Given the description of an element on the screen output the (x, y) to click on. 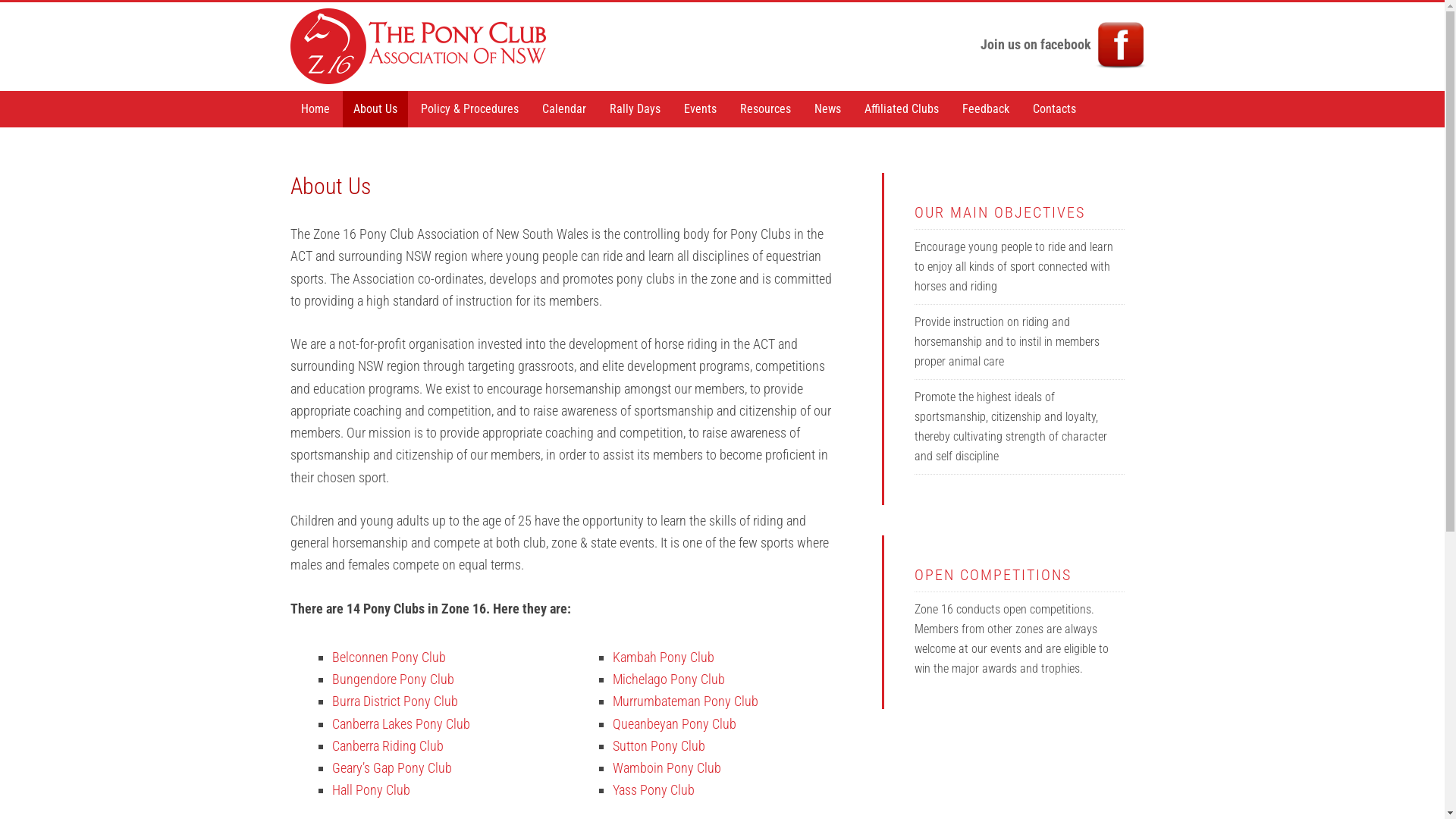
Kambah Pony Club Element type: text (663, 657)
Murrumbateman Pony Club Element type: text (685, 701)
Feedback Element type: text (984, 109)
Policy & Procedures Element type: text (468, 109)
Canberra Lakes Pony Club Element type: text (401, 723)
Affiliated Clubs Element type: text (901, 109)
Canberra Riding Club Element type: text (387, 745)
Bungendore Pony Club Element type: text (393, 679)
Join us on facebook Element type: text (1062, 44)
News Element type: text (827, 109)
Belconnen Pony Club Element type: text (388, 657)
Rally Days Element type: text (635, 109)
Sutton Pony Club Element type: text (658, 745)
Home Element type: text (314, 109)
Michelago Pony Club Element type: text (668, 679)
Wamboin Pony Club Element type: text (666, 767)
Queanbeyan Pony Club Element type: text (674, 723)
Resources Element type: text (765, 109)
Events Element type: text (700, 109)
Calendar Element type: text (563, 109)
Yass Pony Club Element type: text (653, 789)
Contacts Element type: text (1054, 109)
Hall Pony Club Element type: text (371, 789)
Burra District Pony Club Element type: text (395, 701)
About Us Element type: text (374, 109)
